Given the description of an element on the screen output the (x, y) to click on. 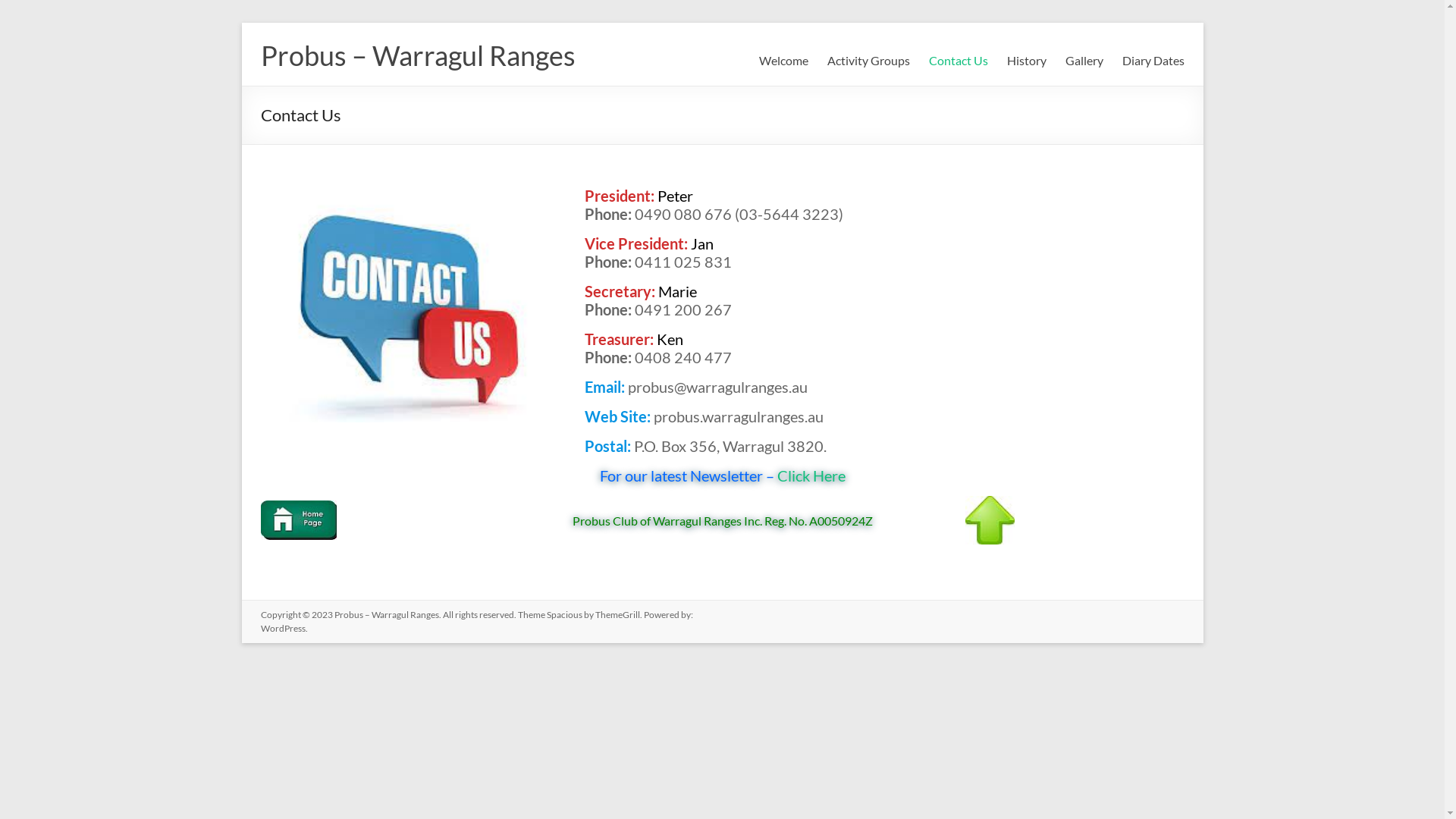
Spacious Element type: text (563, 614)
Diary Dates Element type: text (1153, 60)
Click Here Element type: text (808, 475)
Contact Us Element type: text (957, 60)
Activity Groups Element type: text (867, 60)
History Element type: text (1026, 60)
Welcome Element type: text (782, 60)
Skip to content Element type: text (241, 21)
Gallery Element type: text (1083, 60)
WordPress Element type: text (282, 627)
